Given the description of an element on the screen output the (x, y) to click on. 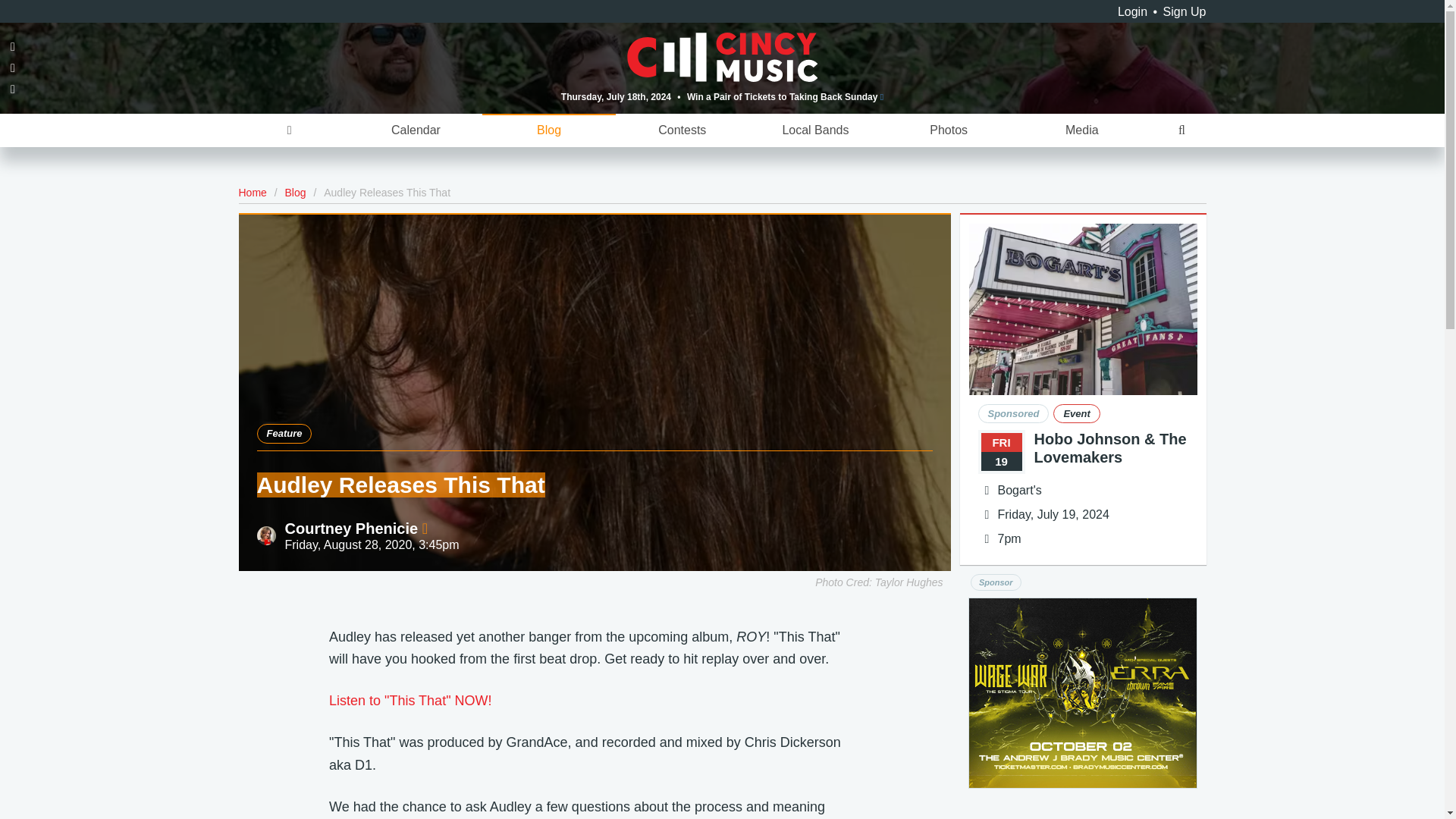
Media (1081, 130)
Calendar (416, 130)
Login (1132, 11)
Contests (682, 130)
CincyMusic (722, 56)
Blog (295, 192)
Home (252, 192)
Blog (548, 130)
Photos (948, 130)
Local Bands (815, 130)
Sign Up (1185, 11)
Courtney Phenicie  (356, 528)
Win a Pair of Tickets to Taking Back Sunday  (785, 95)
Listen to "This That" NOW! (410, 700)
